Given the description of an element on the screen output the (x, y) to click on. 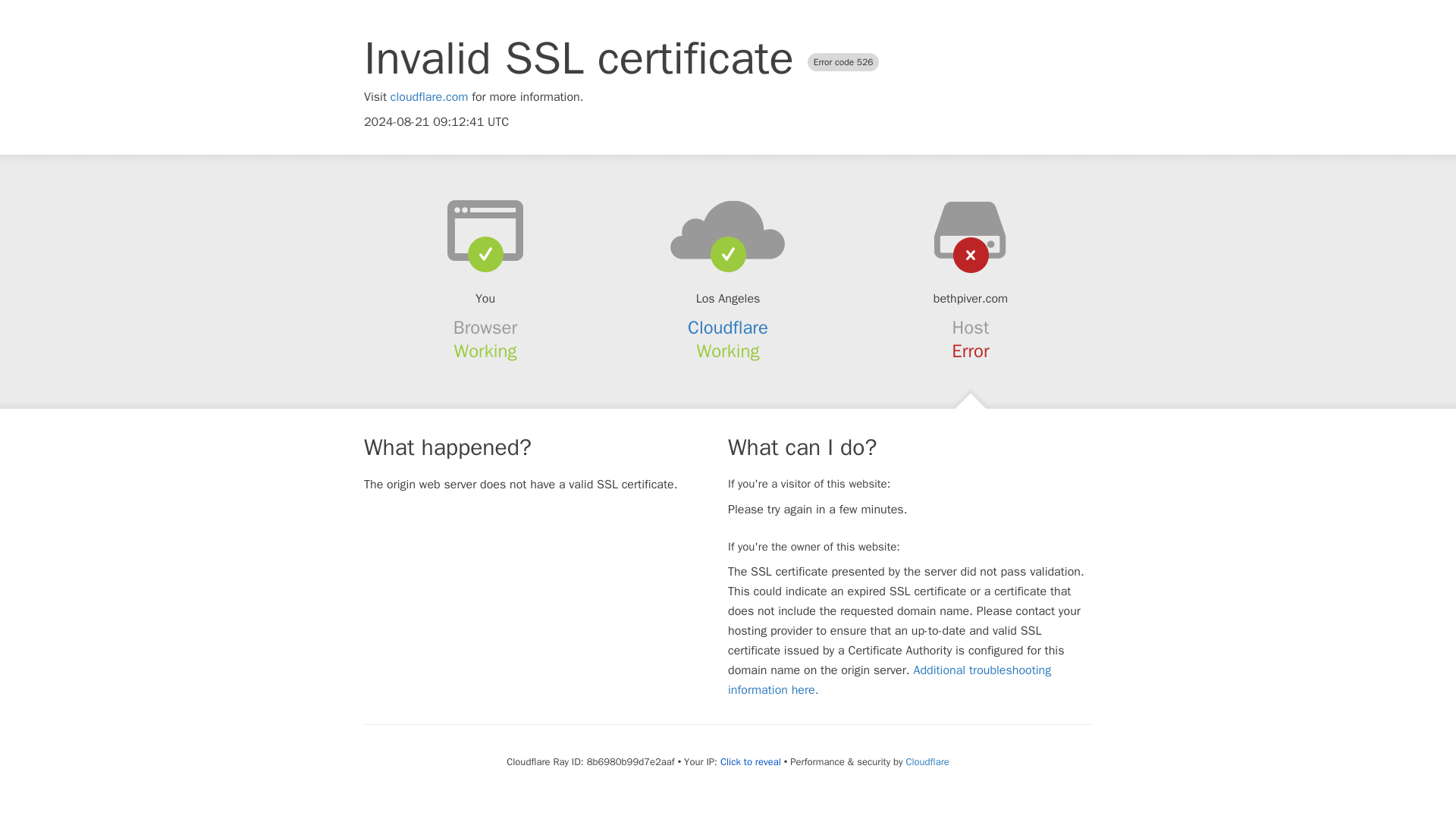
Additional troubleshooting information here. (889, 679)
Cloudflare (727, 327)
Click to reveal (750, 762)
Cloudflare (927, 761)
cloudflare.com (429, 96)
